Given the description of an element on the screen output the (x, y) to click on. 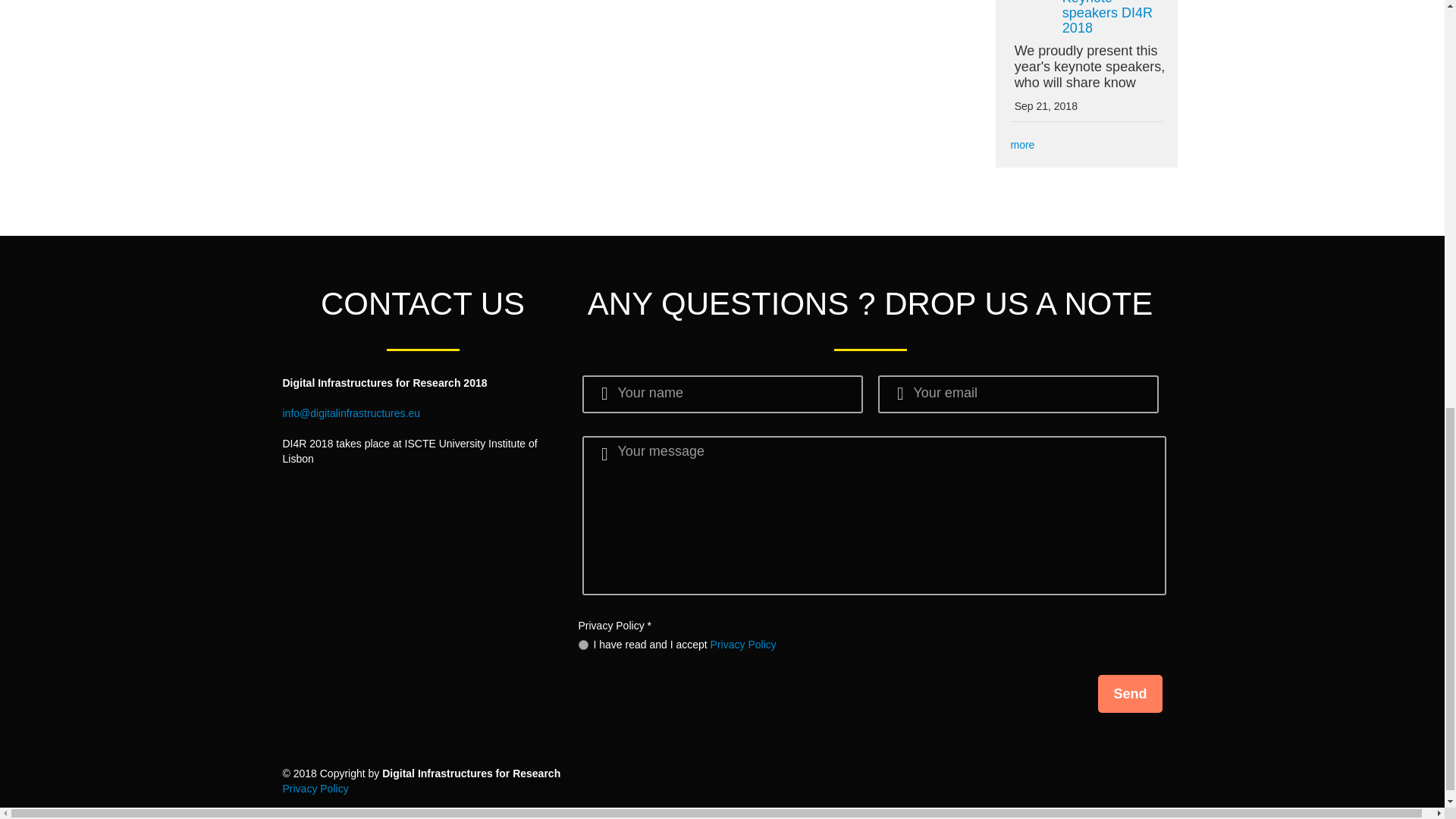
Accept Privacy Policy (583, 644)
Keynote speakers DI4R 2018 (1107, 18)
